Given the description of an element on the screen output the (x, y) to click on. 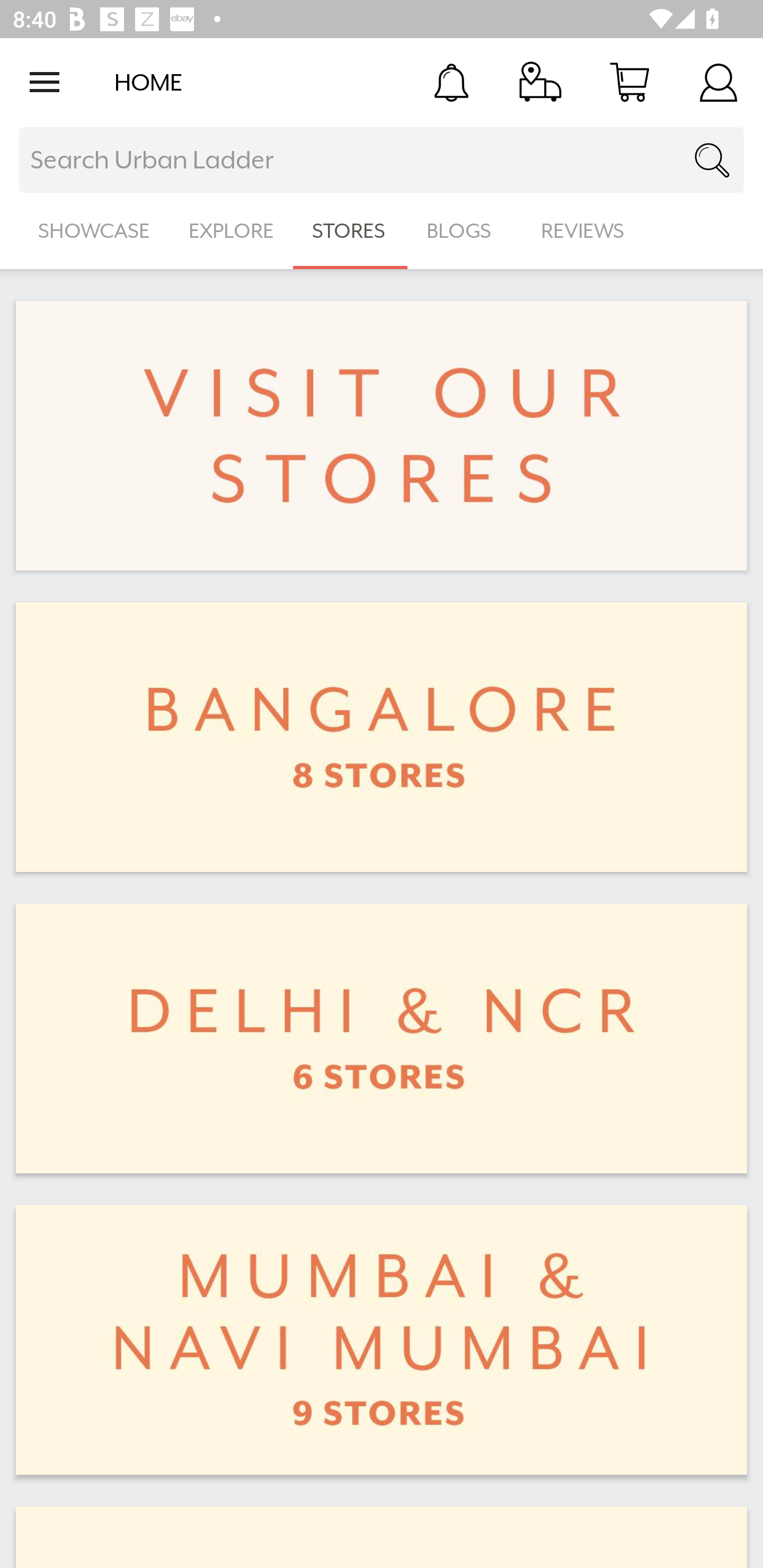
Open navigation drawer (44, 82)
Notification (450, 81)
Track Order (540, 81)
Cart (629, 81)
Account Details (718, 81)
Search Urban Ladder  (381, 159)
SHOWCASE (94, 230)
EXPLORE (230, 230)
STORES (349, 230)
BLOGS (464, 230)
REVIEWS (582, 230)
